Given the description of an element on the screen output the (x, y) to click on. 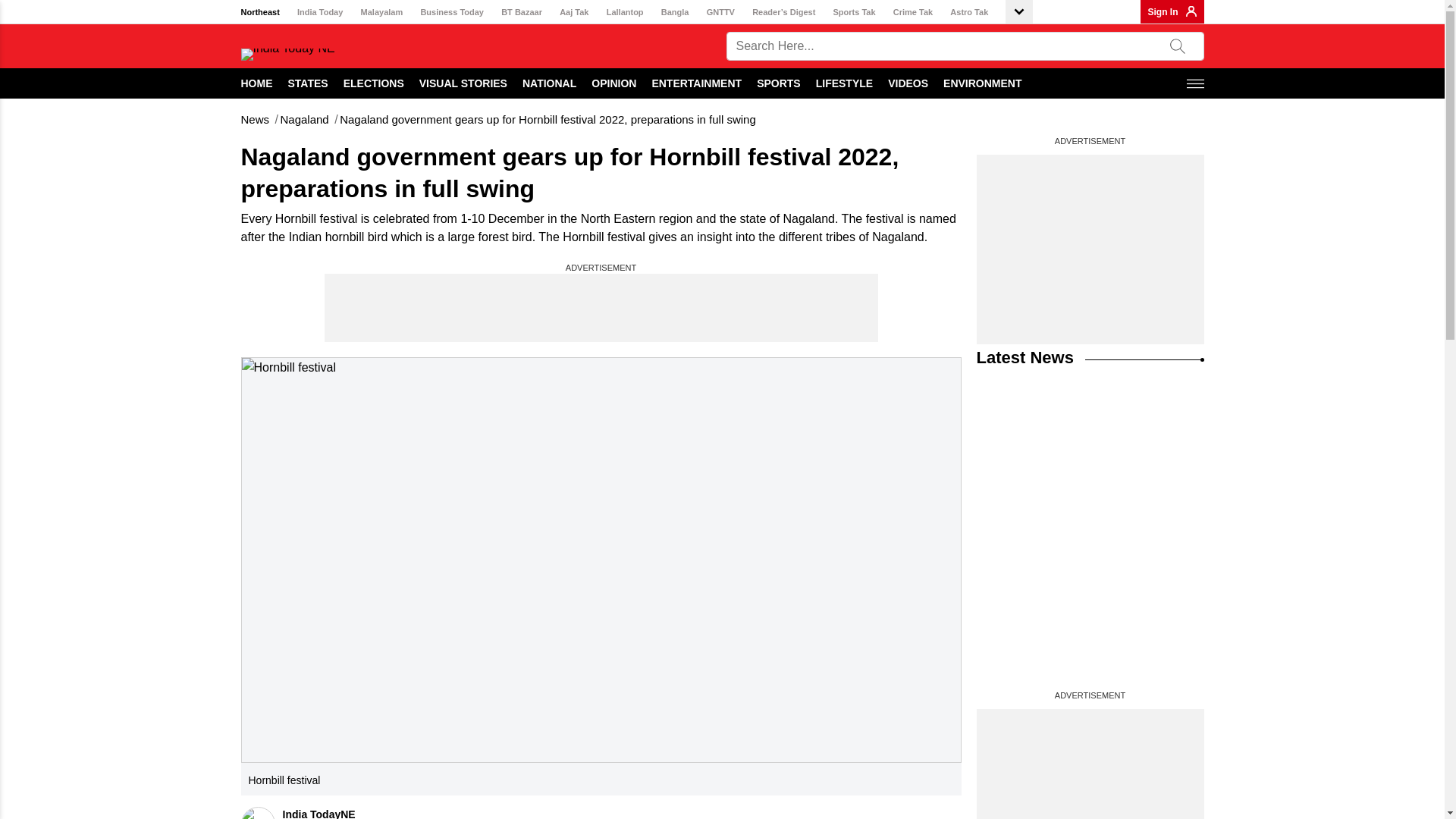
Crime Tak (913, 12)
BT Bazaar (520, 12)
GNTTV (720, 12)
Bangla (674, 12)
Lallantop (625, 12)
Astro Tak (969, 12)
BT Bazaar (520, 12)
Business Today (451, 12)
India Today (319, 12)
Northeast (260, 12)
